Given the description of an element on the screen output the (x, y) to click on. 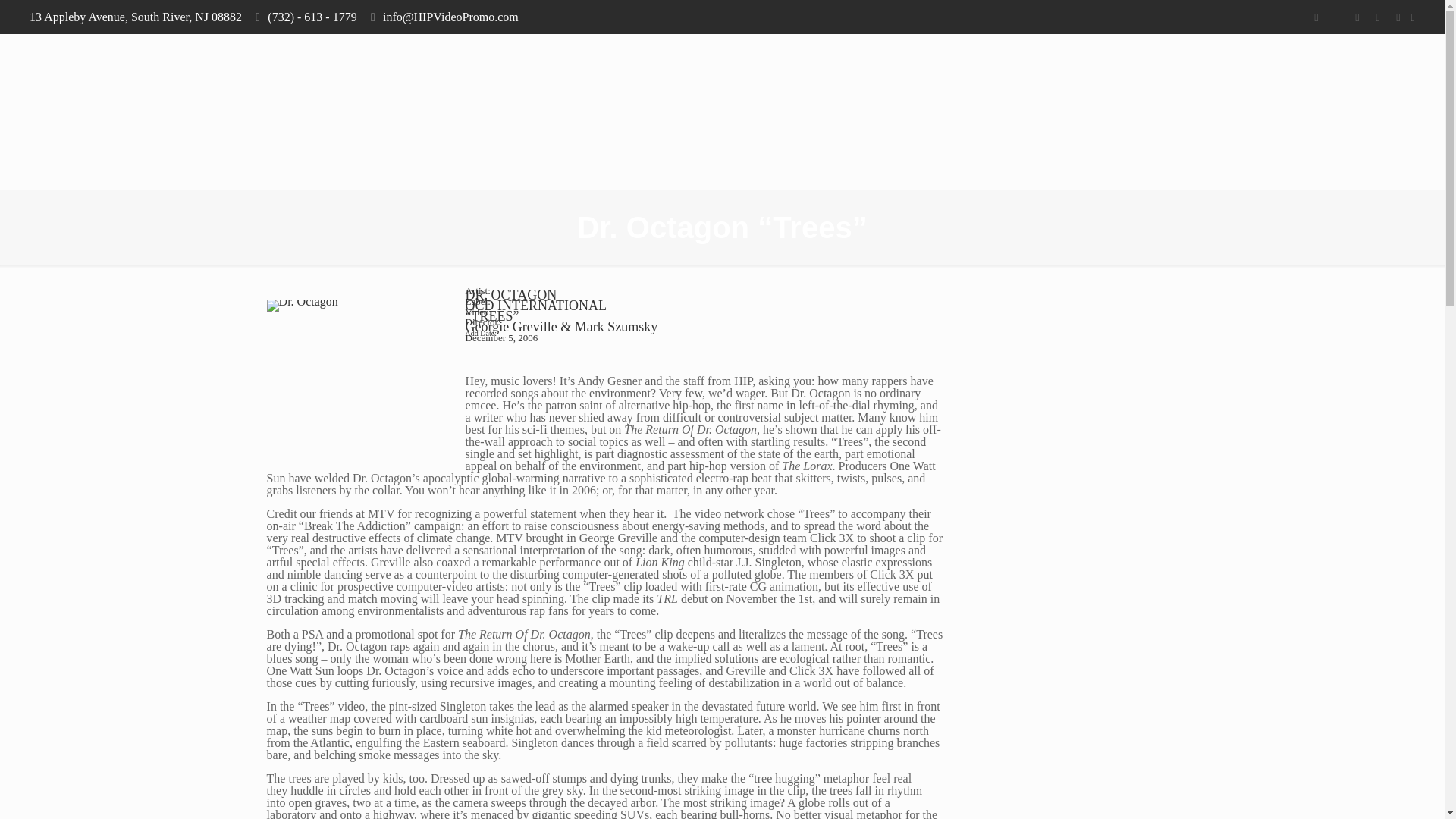
Instagram (1378, 17)
Twitter (1335, 17)
YouTube (1357, 17)
Facebook (1315, 17)
Spotify (1398, 17)
13 Appleby Avenue, South River, NJ 08882 (135, 16)
